Given the description of an element on the screen output the (x, y) to click on. 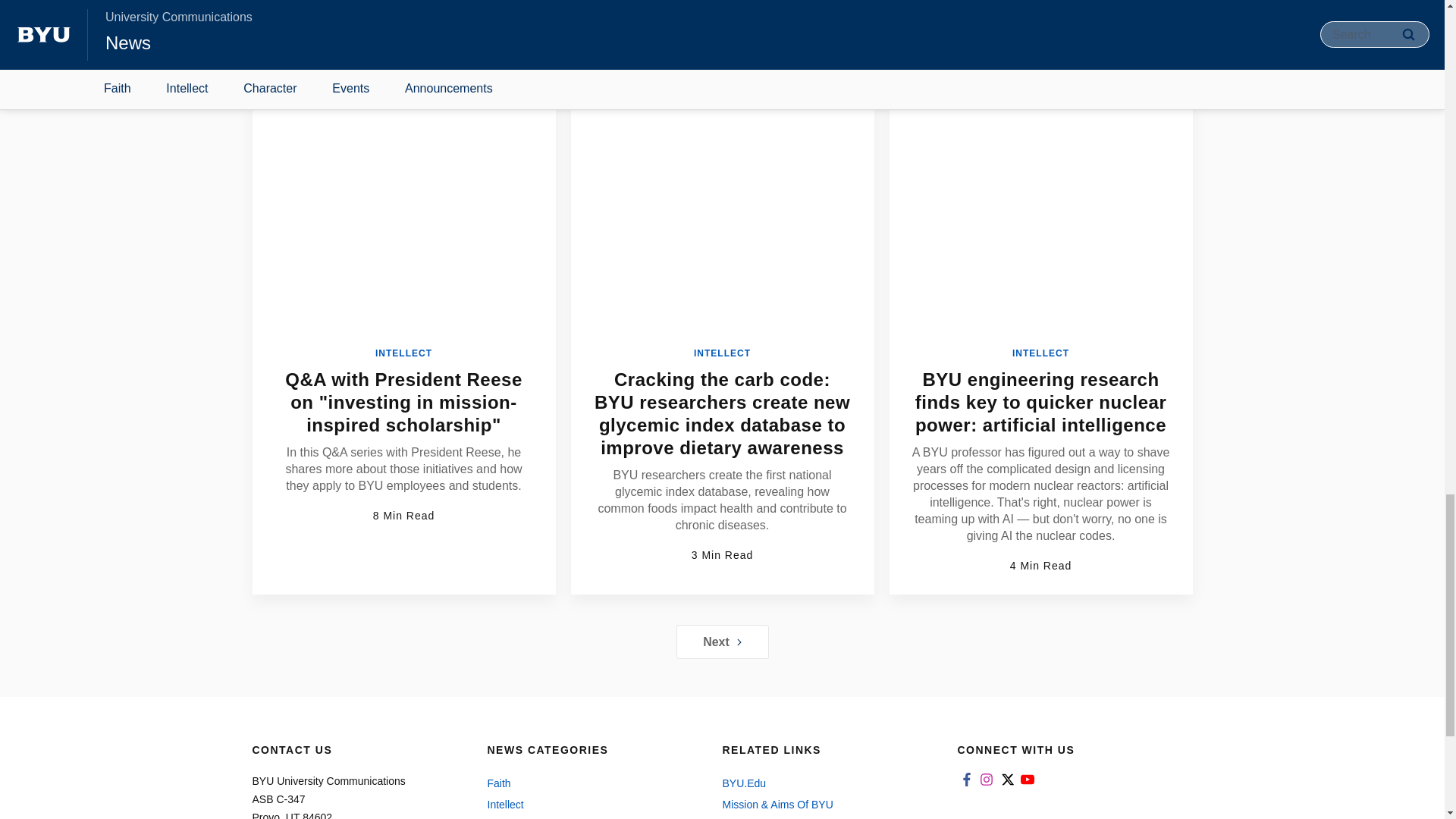
Intellect (588, 803)
BYU Alumni (824, 816)
Faith (588, 783)
Character (588, 816)
Next (722, 641)
Link to twitter (1006, 779)
Link to instagram (985, 779)
BYU.Edu (824, 783)
Link to facebook (965, 779)
INTELLECT (403, 353)
INTELLECT (1039, 353)
INTELLECT (722, 353)
